Given the description of an element on the screen output the (x, y) to click on. 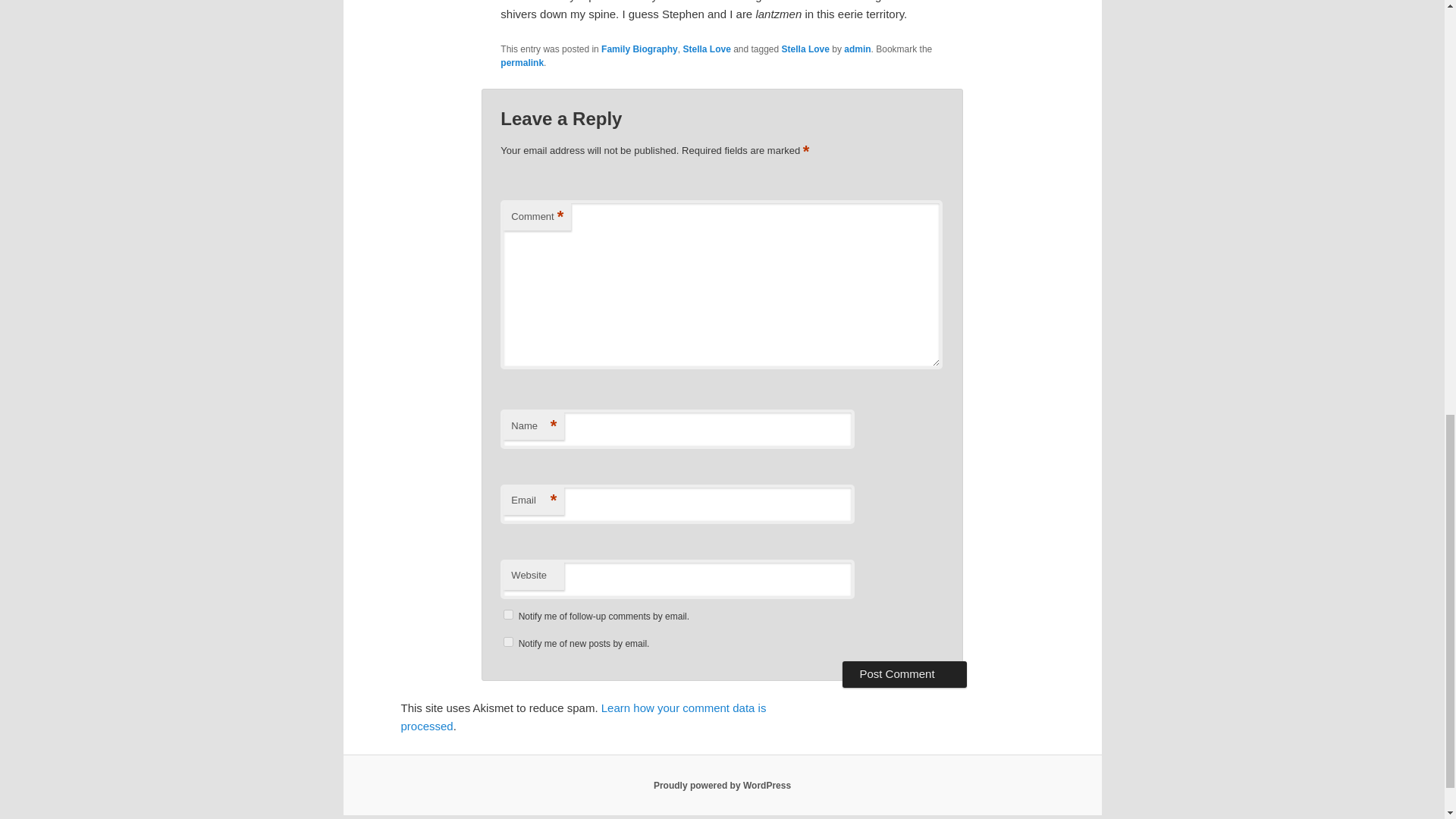
admin (857, 49)
Learn how your comment data is processed (582, 716)
Stella Love (706, 49)
permalink (521, 62)
Proudly powered by WordPress (721, 785)
Family Biography (639, 49)
Semantic Personal Publishing Platform (721, 785)
Post Comment (904, 673)
subscribe (508, 642)
Stella Love (805, 49)
